Given the description of an element on the screen output the (x, y) to click on. 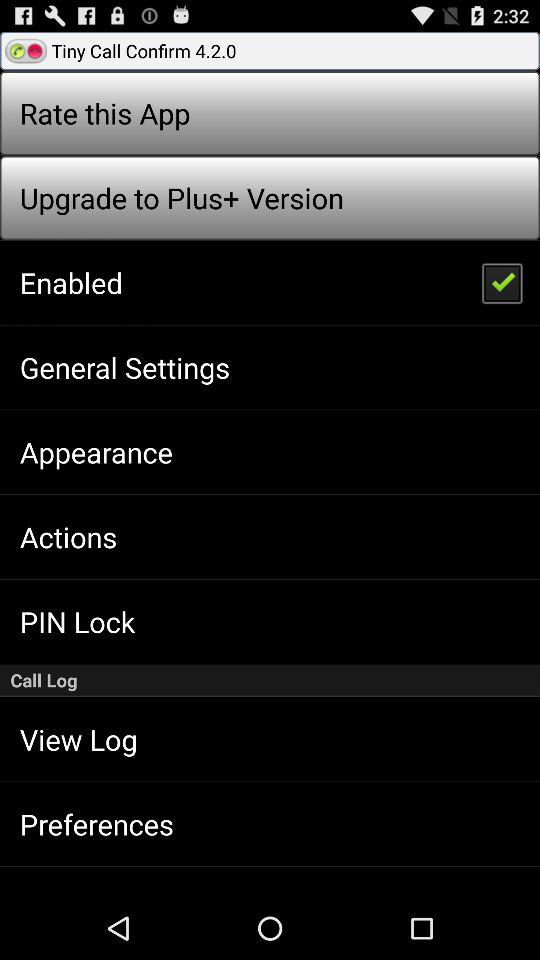
open item at the top right corner (501, 282)
